Given the description of an element on the screen output the (x, y) to click on. 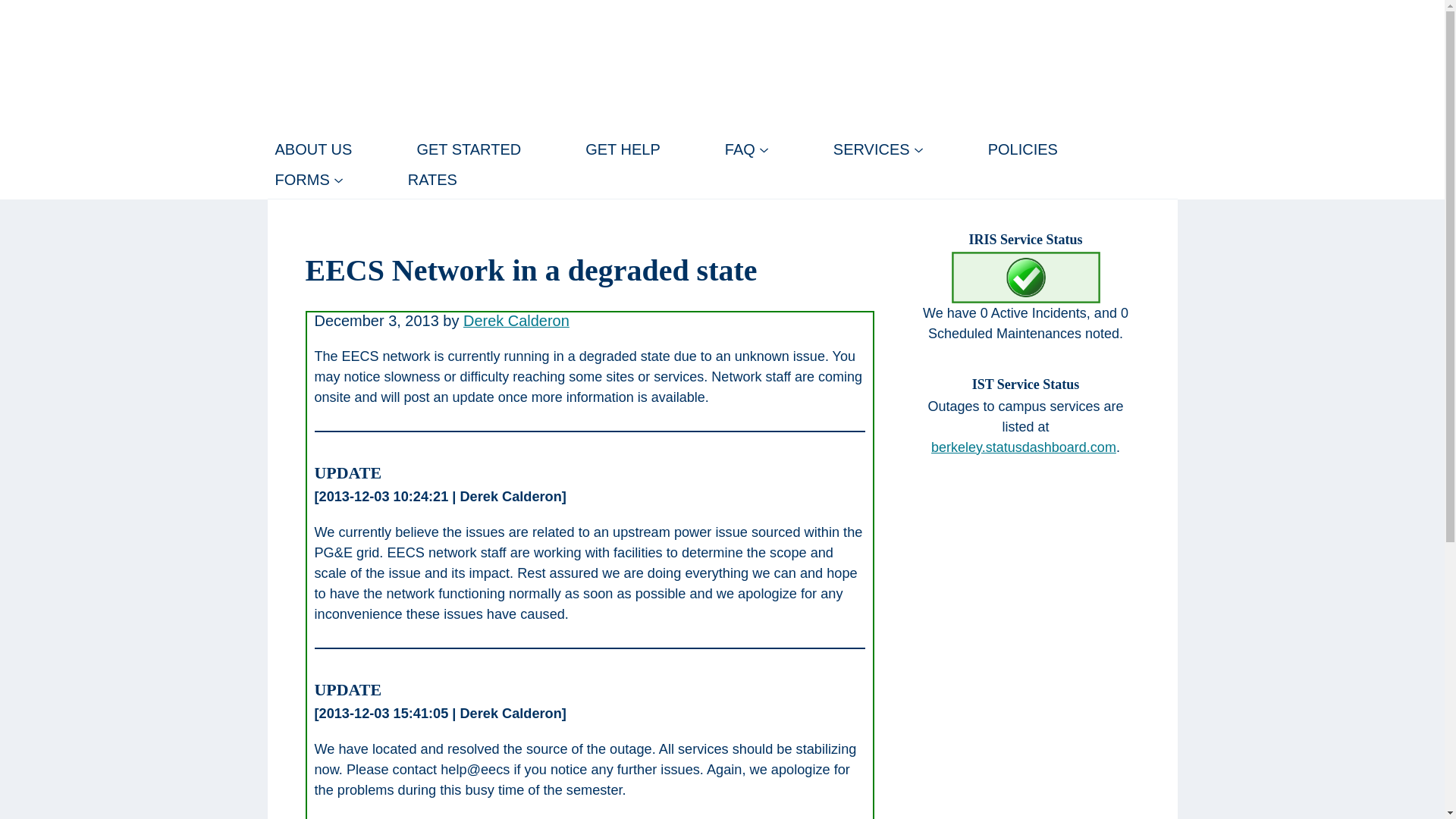
GET STARTED (468, 149)
IRIS (298, 66)
ABOUT US (312, 149)
EECS (1129, 13)
Berkeley Engineering (1036, 13)
GET HELP (623, 149)
UC Berkeley (926, 13)
POLICIES (1022, 149)
SERVICES (878, 149)
FAQ (746, 149)
Homepage (298, 66)
